Given the description of an element on the screen output the (x, y) to click on. 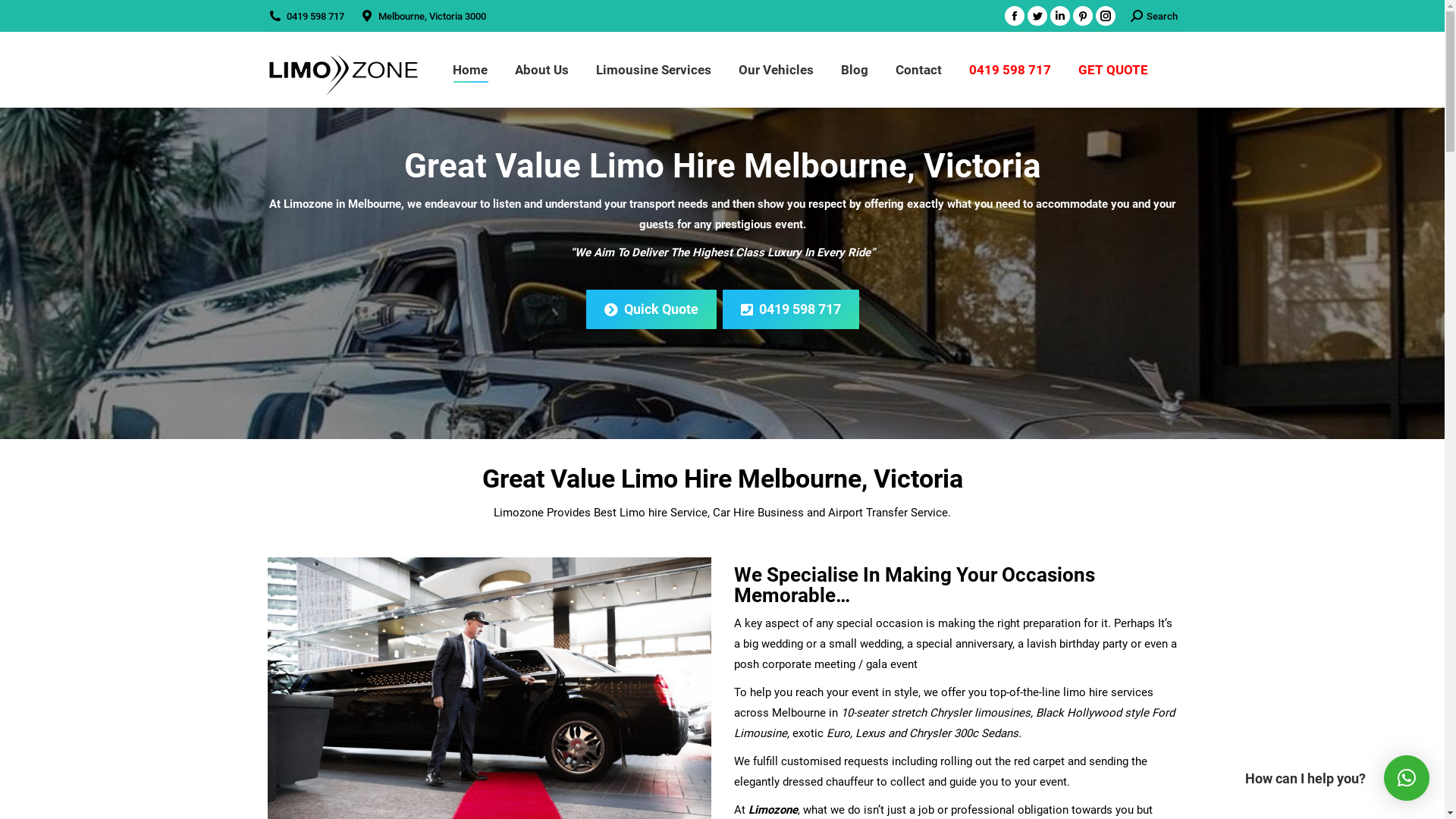
0419 598 717 Element type: text (1010, 69)
0419 598 717 Element type: text (789, 309)
About Us Element type: text (541, 69)
How can I help you? Element type: text (1406, 777)
GET QUOTE Element type: text (1113, 69)
Quick Quote Element type: text (650, 309)
Pinterest page opens in new window Element type: text (1082, 15)
Limousine Services Element type: text (653, 69)
0419 598 717 Element type: text (315, 16)
Instagram page opens in new window Element type: text (1104, 15)
Linkedin page opens in new window Element type: text (1059, 15)
Contact Element type: text (917, 69)
Blog Element type: text (853, 69)
Go! Element type: text (23, 16)
Our Vehicles Element type: text (775, 69)
Search Element type: text (1152, 16)
Home Element type: text (468, 69)
Twitter page opens in new window Element type: text (1036, 15)
Facebook page opens in new window Element type: text (1013, 15)
